Given the description of an element on the screen output the (x, y) to click on. 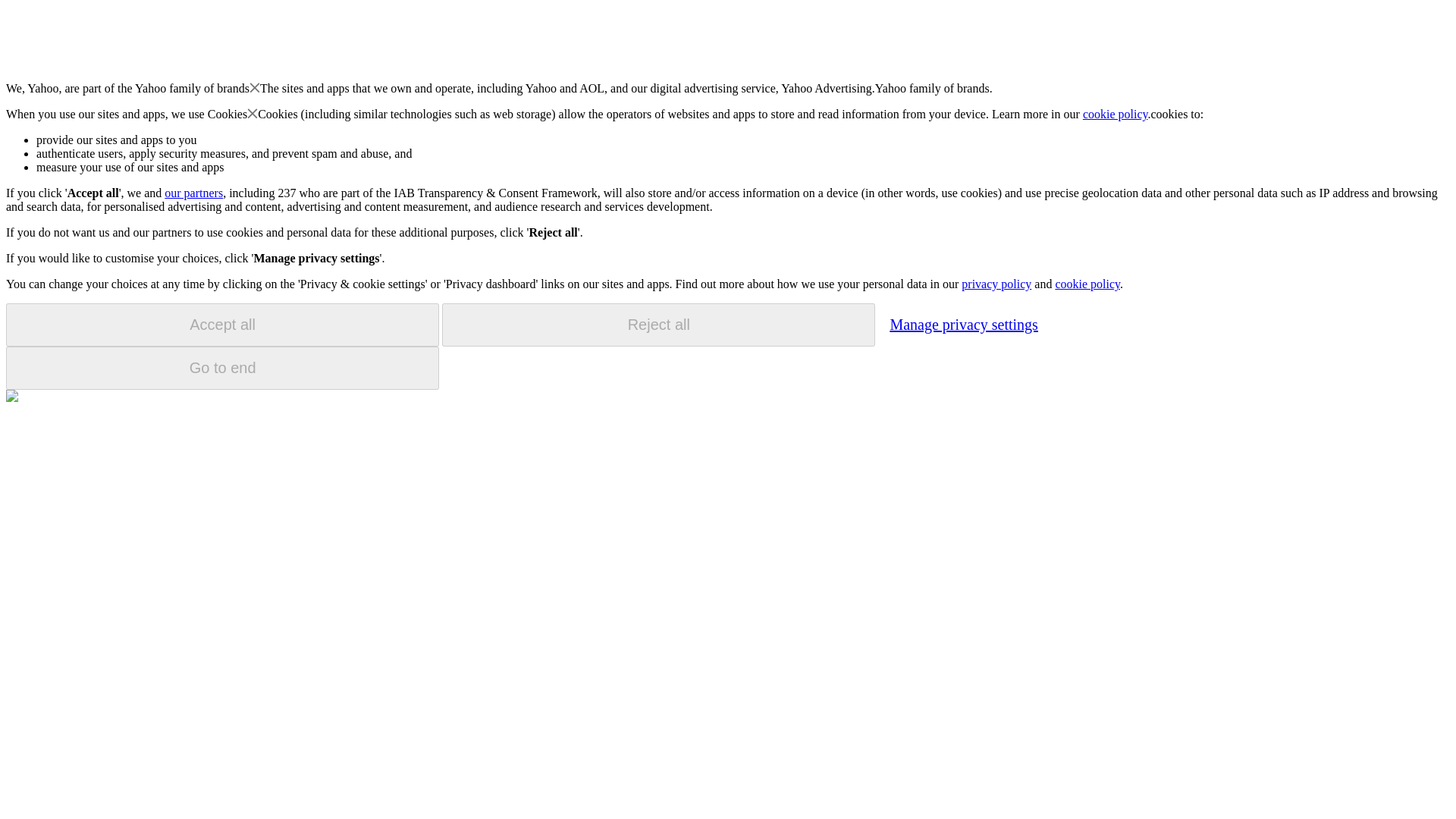
privacy policy (995, 283)
cookie policy (1115, 113)
our partners (193, 192)
Go to end (222, 367)
Accept all (222, 324)
cookie policy (1086, 283)
Reject all (658, 324)
Manage privacy settings (963, 323)
